Given the description of an element on the screen output the (x, y) to click on. 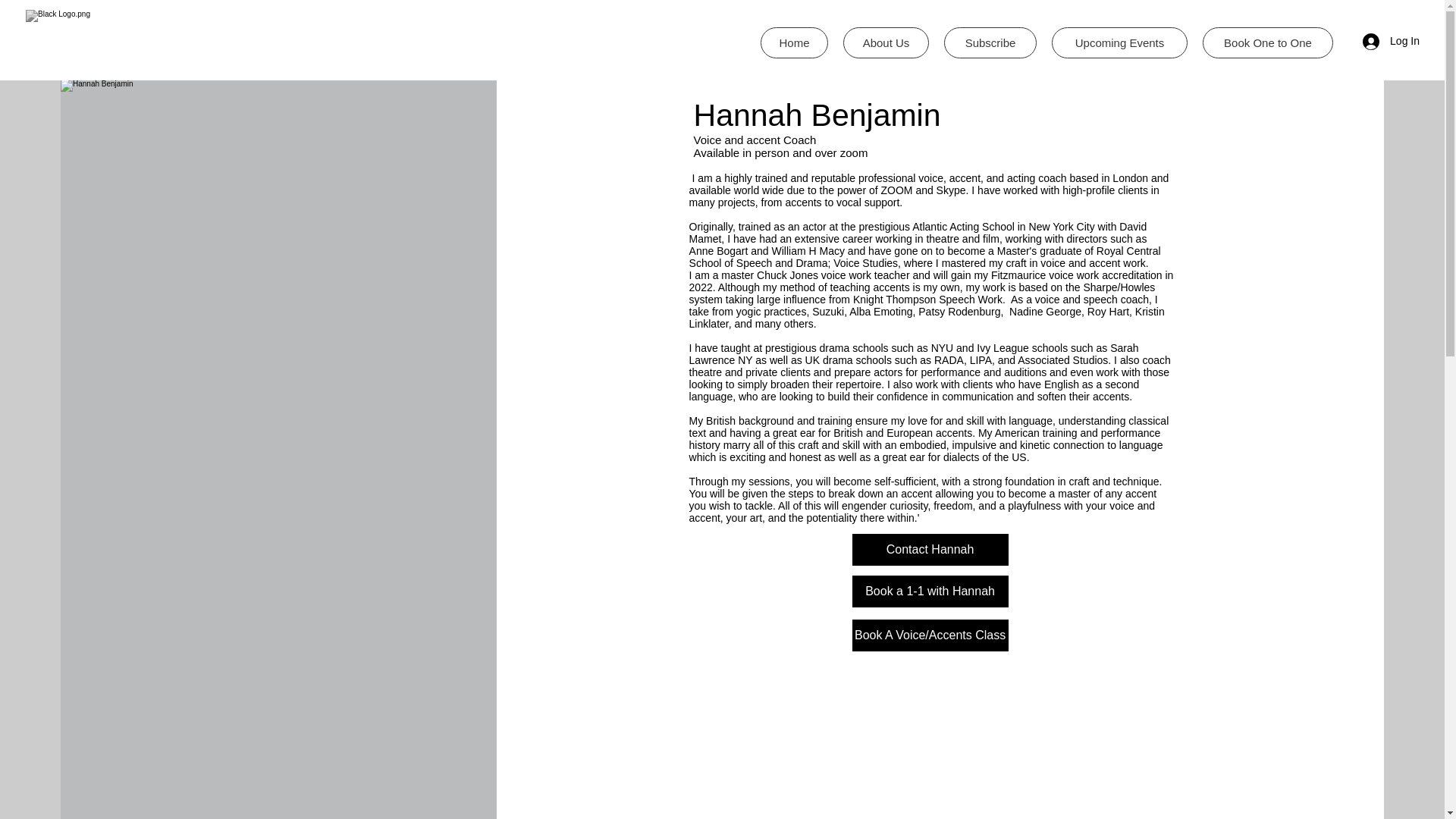
Upcoming Events (1119, 42)
Subscribe (989, 42)
Log In (1390, 41)
Contact Hannah (930, 549)
About Us (885, 42)
Book One to One (1267, 42)
Book a 1-1 with Hannah (930, 591)
Home (794, 42)
